Given the description of an element on the screen output the (x, y) to click on. 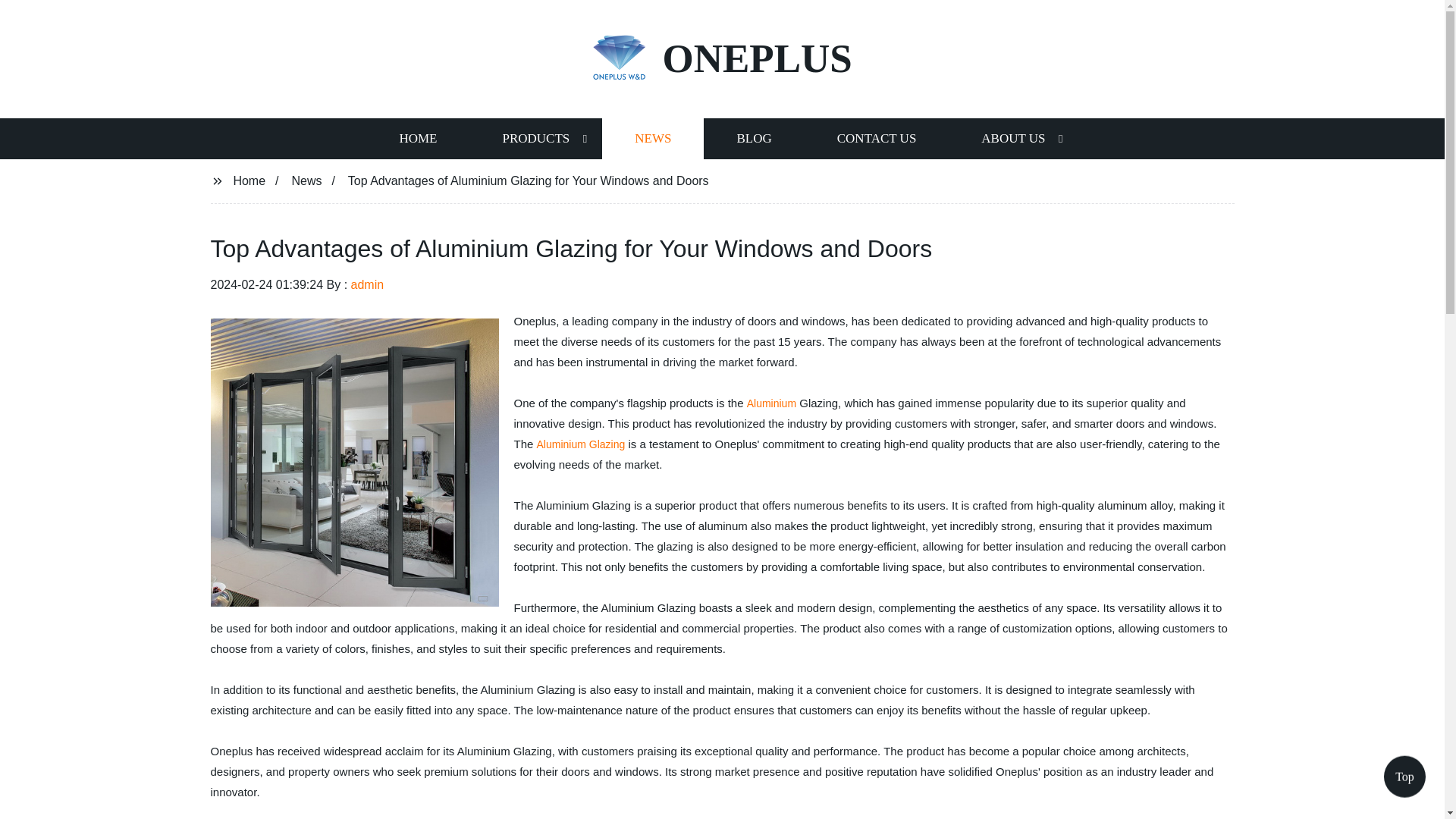
Aluminium (771, 403)
News (306, 180)
Aluminium Glazing (581, 444)
NEWS (652, 137)
BLOG (753, 137)
Top (1404, 779)
ABOUT US (1013, 137)
CONTACT US (877, 137)
HOME (417, 137)
PRODUCTS (535, 137)
